Given the description of an element on the screen output the (x, y) to click on. 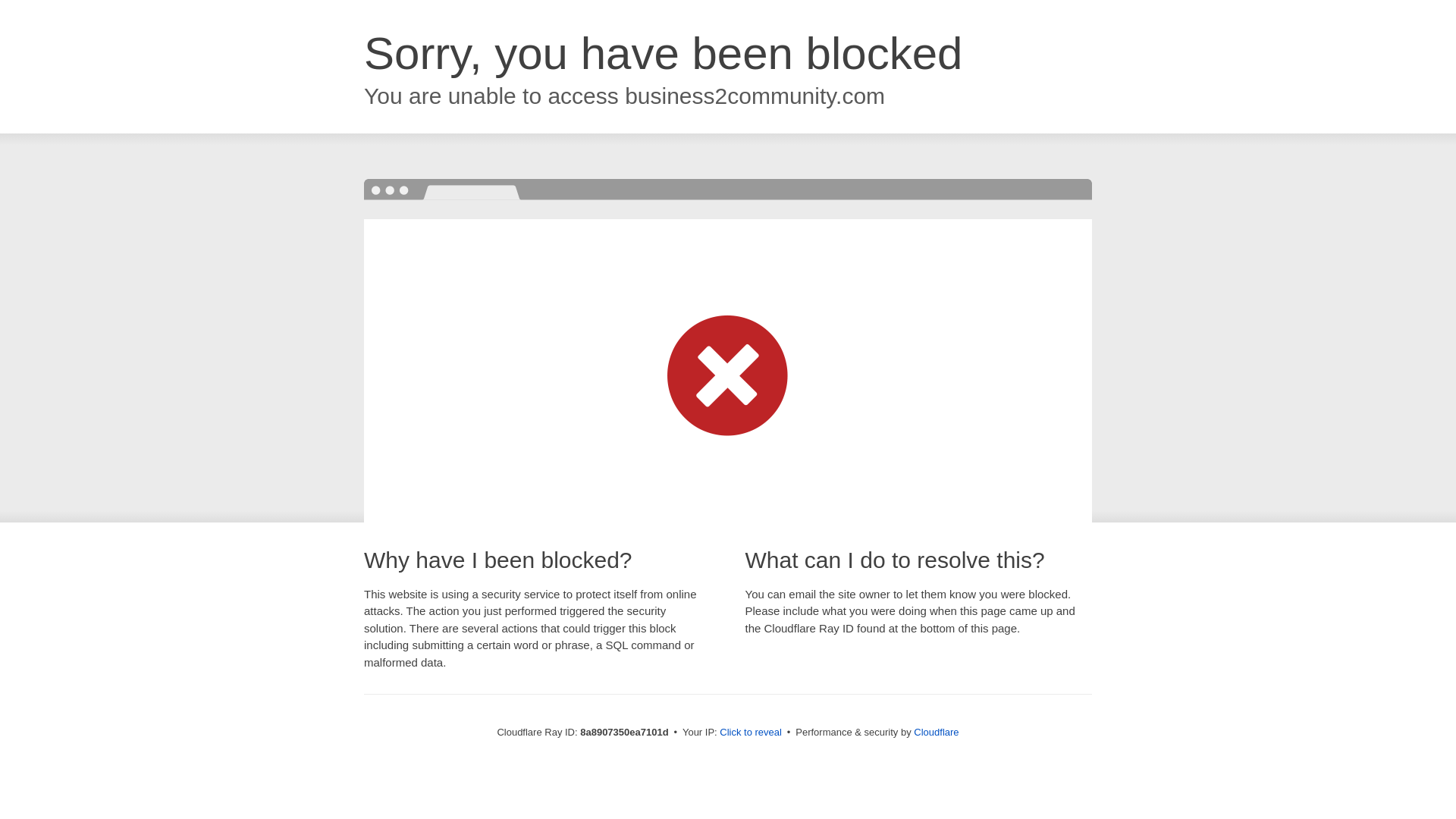
Cloudflare (936, 731)
Click to reveal (750, 732)
